Given the description of an element on the screen output the (x, y) to click on. 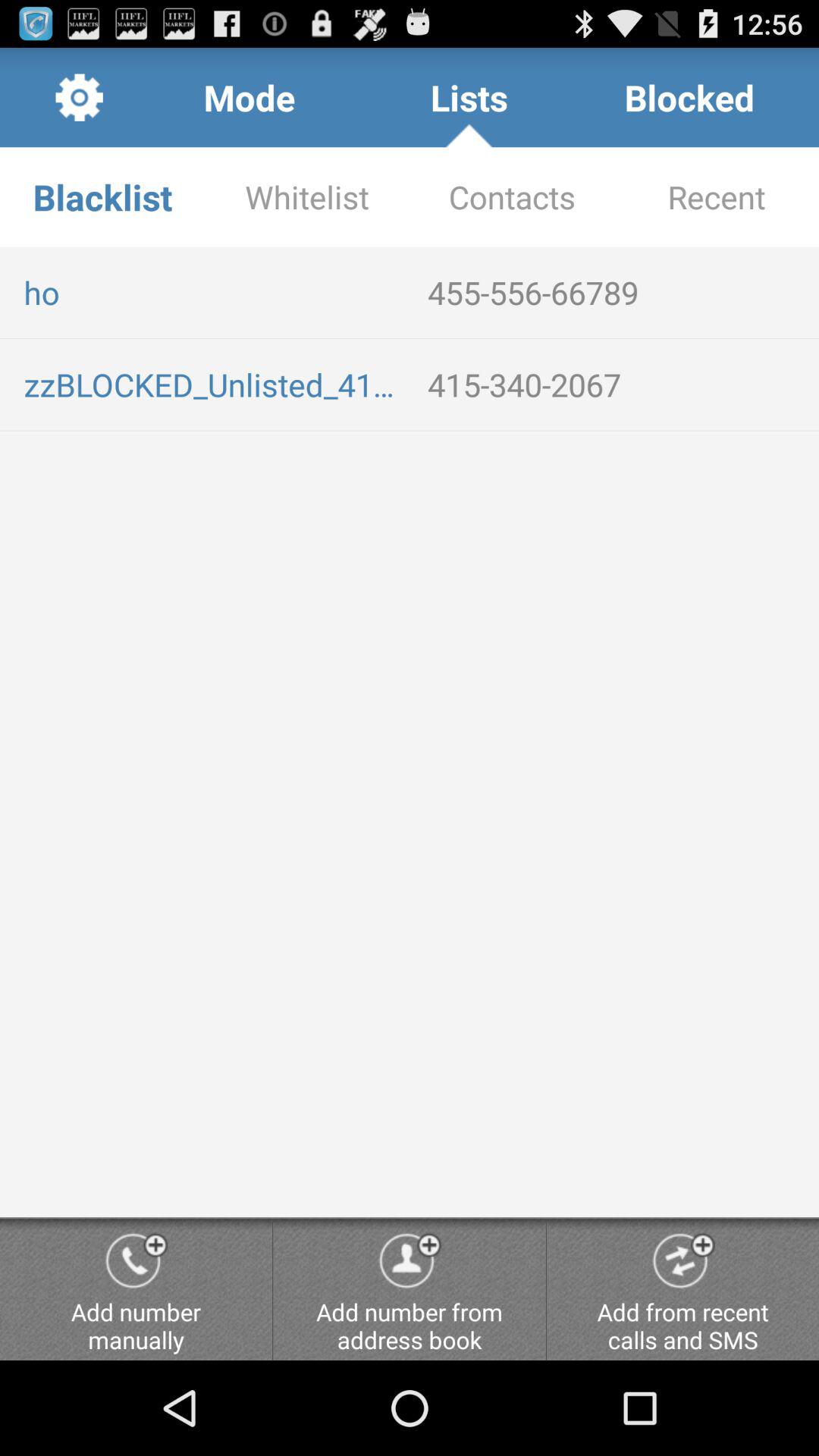
turn on icon next to the ho icon (617, 291)
